Given the description of an element on the screen output the (x, y) to click on. 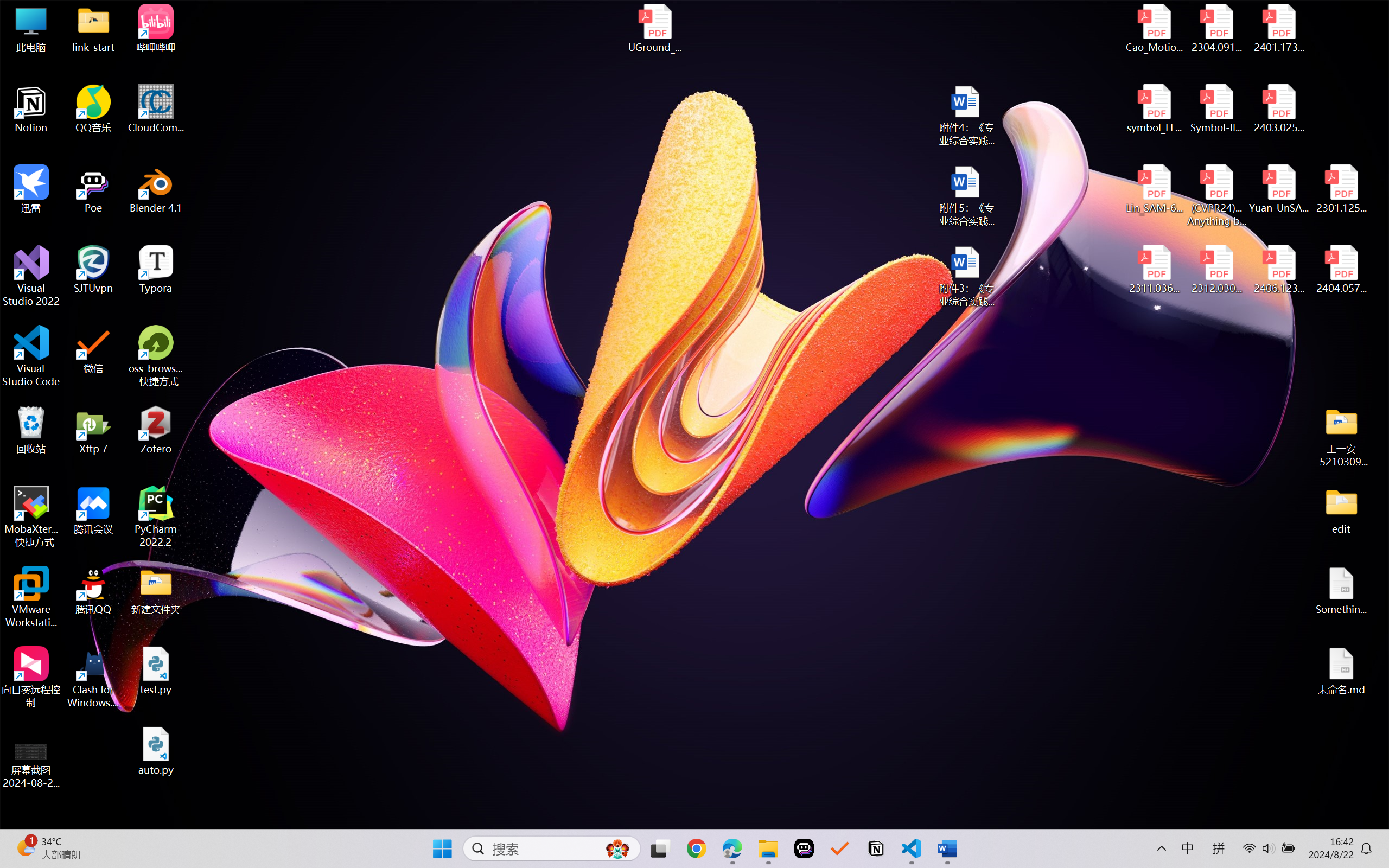
2301.12597v3.pdf (1340, 189)
Visual Studio Code (31, 355)
2406.12373v2.pdf (1278, 269)
2403.02502v1.pdf (1278, 109)
